Given the description of an element on the screen output the (x, y) to click on. 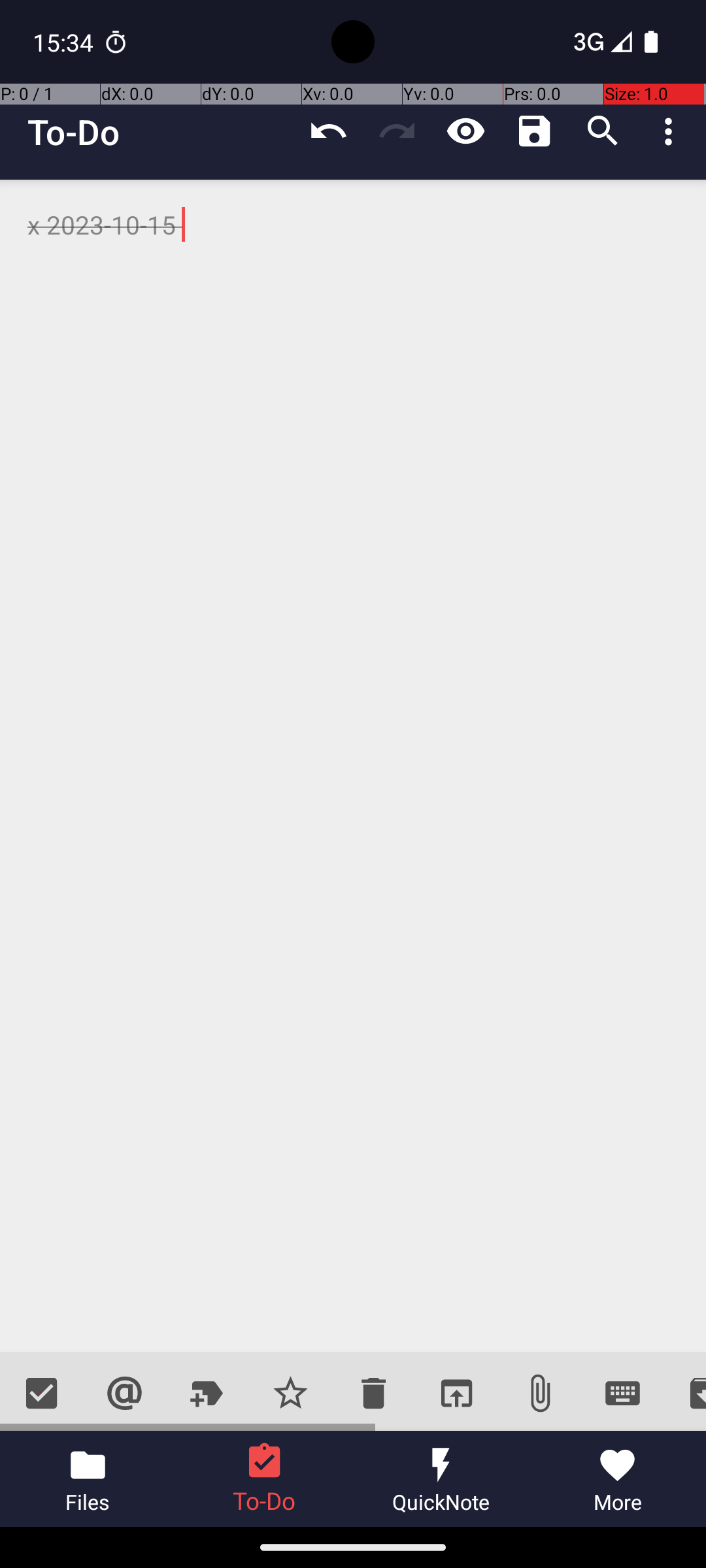
x 2023-10-15  Element type: android.widget.EditText (353, 765)
